Given the description of an element on the screen output the (x, y) to click on. 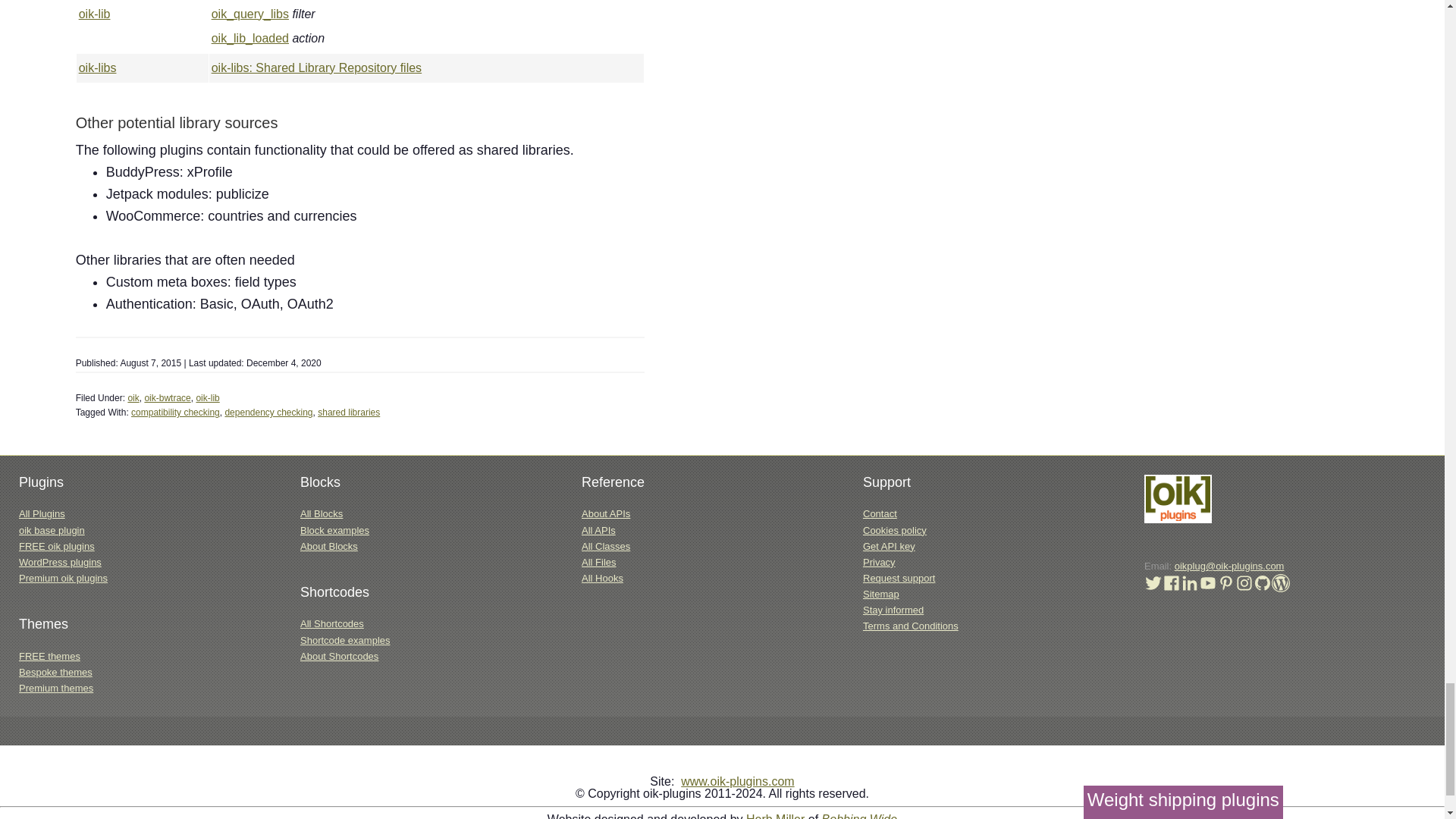
Follow Herb Miller on Facebook (1170, 588)
oik-plugins (1177, 499)
oik-plugins (1177, 519)
Follow Herb Miller on Twitter (1152, 588)
